Given the description of an element on the screen output the (x, y) to click on. 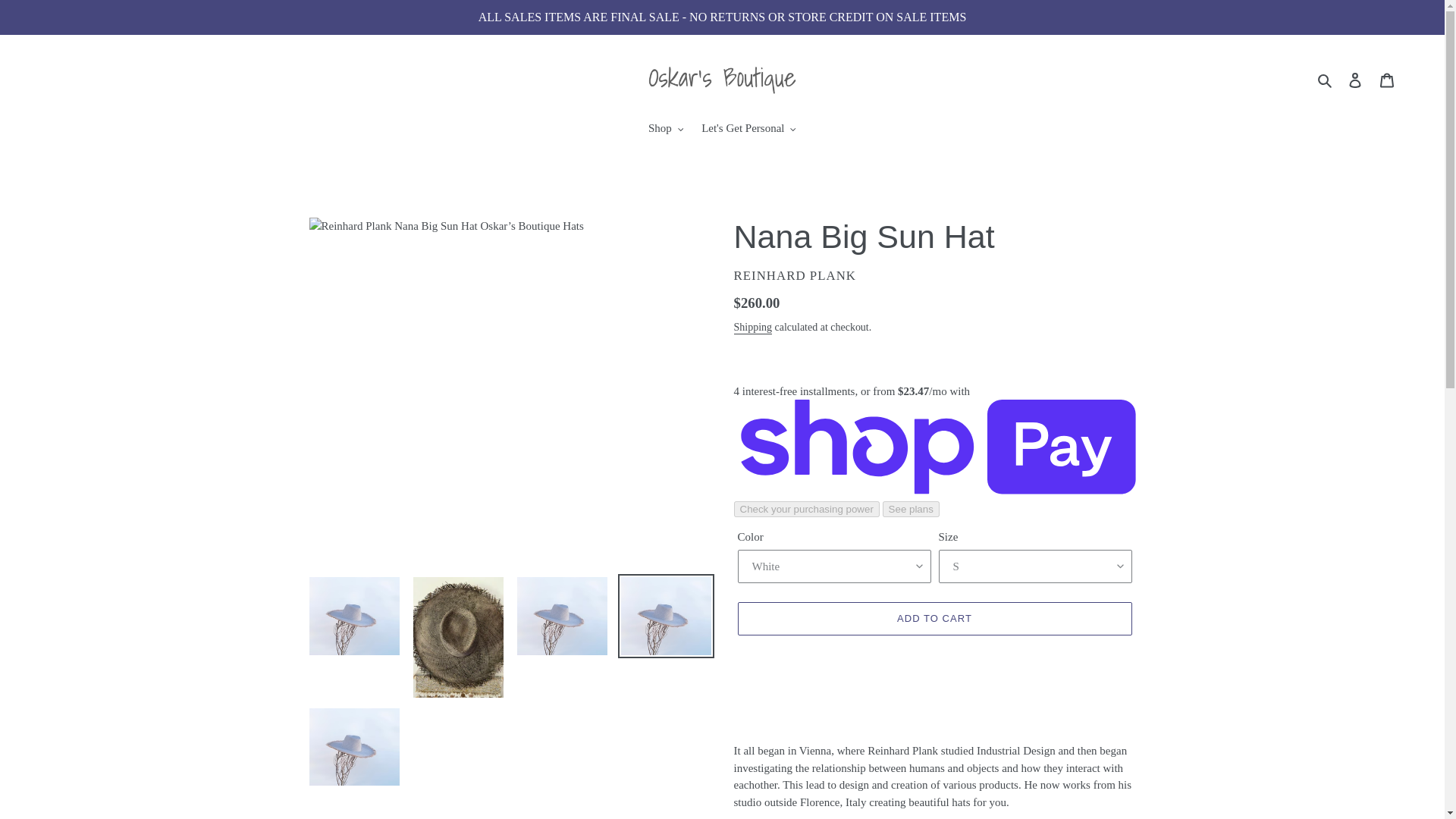
Cart (1387, 79)
Log in (1355, 79)
Search (1326, 78)
